Given the description of an element on the screen output the (x, y) to click on. 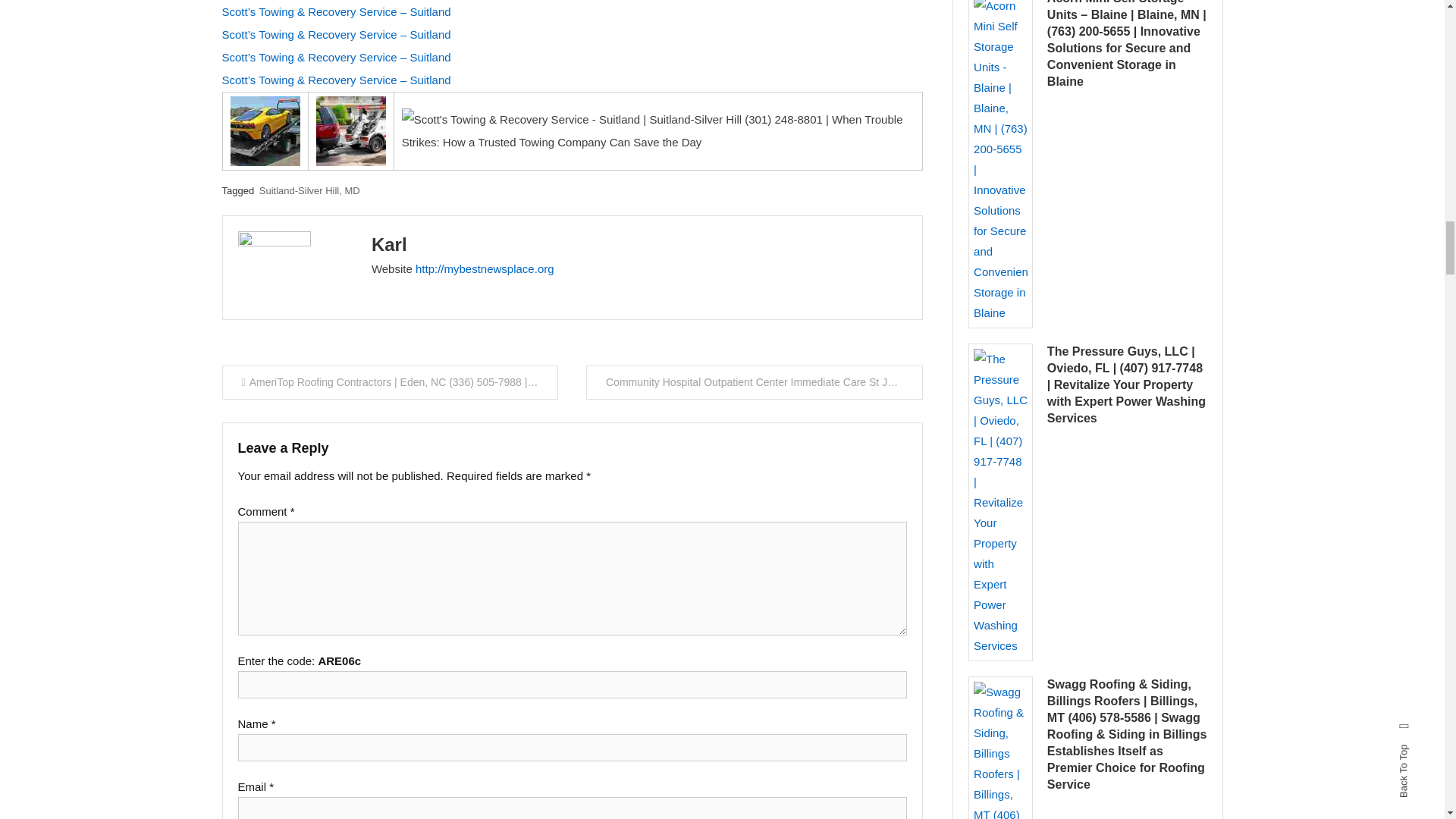
Posts by Karl (389, 244)
